Given the description of an element on the screen output the (x, y) to click on. 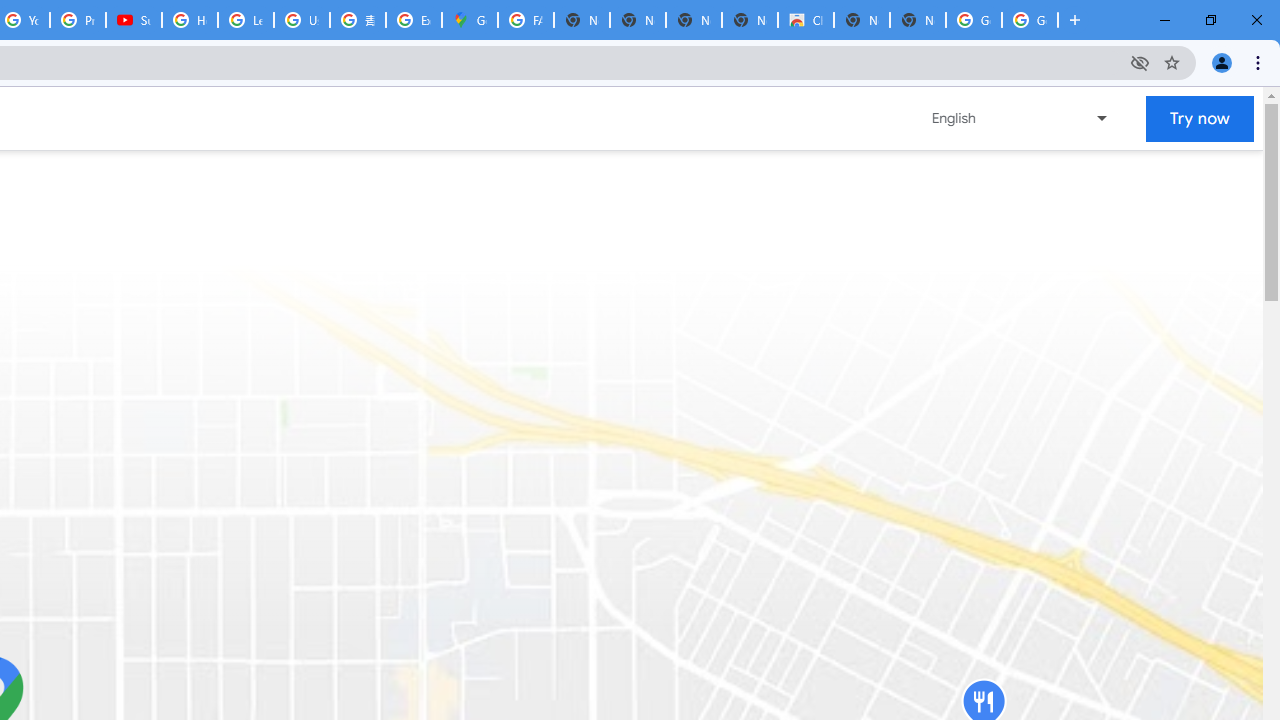
Third-party cookies blocked (1139, 62)
Explore new street-level details - Google Maps Help (413, 20)
Restore (1210, 20)
New Tab (1075, 20)
Google Images (1030, 20)
Change language or region (1021, 117)
How Chrome protects your passwords - Google Chrome Help (189, 20)
